Given the description of an element on the screen output the (x, y) to click on. 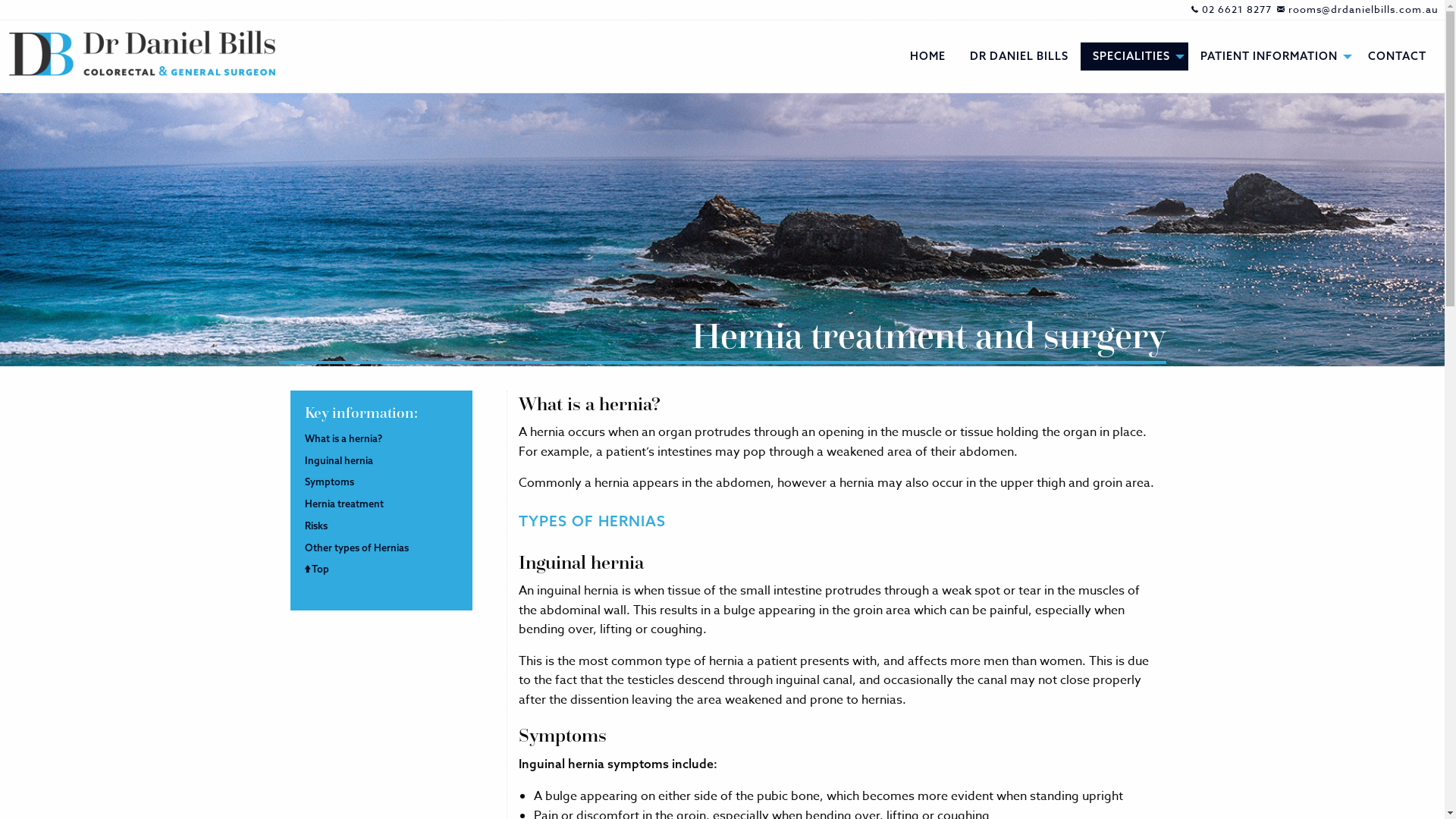
Risks Element type: text (315, 525)
HOME Element type: text (927, 56)
DR DANIEL BILLS Element type: text (1018, 56)
rooms@drdanielbills.com.au Element type: text (1360, 8)
02 6621 8277 Element type: text (1234, 8)
Other types of Hernias Element type: text (356, 547)
What is a hernia? Element type: text (343, 438)
Top Element type: text (316, 568)
Symptoms Element type: text (329, 481)
PATIENT INFORMATION Element type: text (1271, 56)
Inguinal hernia Element type: text (338, 460)
SPECIALITIES Element type: text (1134, 56)
Hernia treatment Element type: text (343, 503)
CONTACT Element type: text (1396, 56)
